Given the description of an element on the screen output the (x, y) to click on. 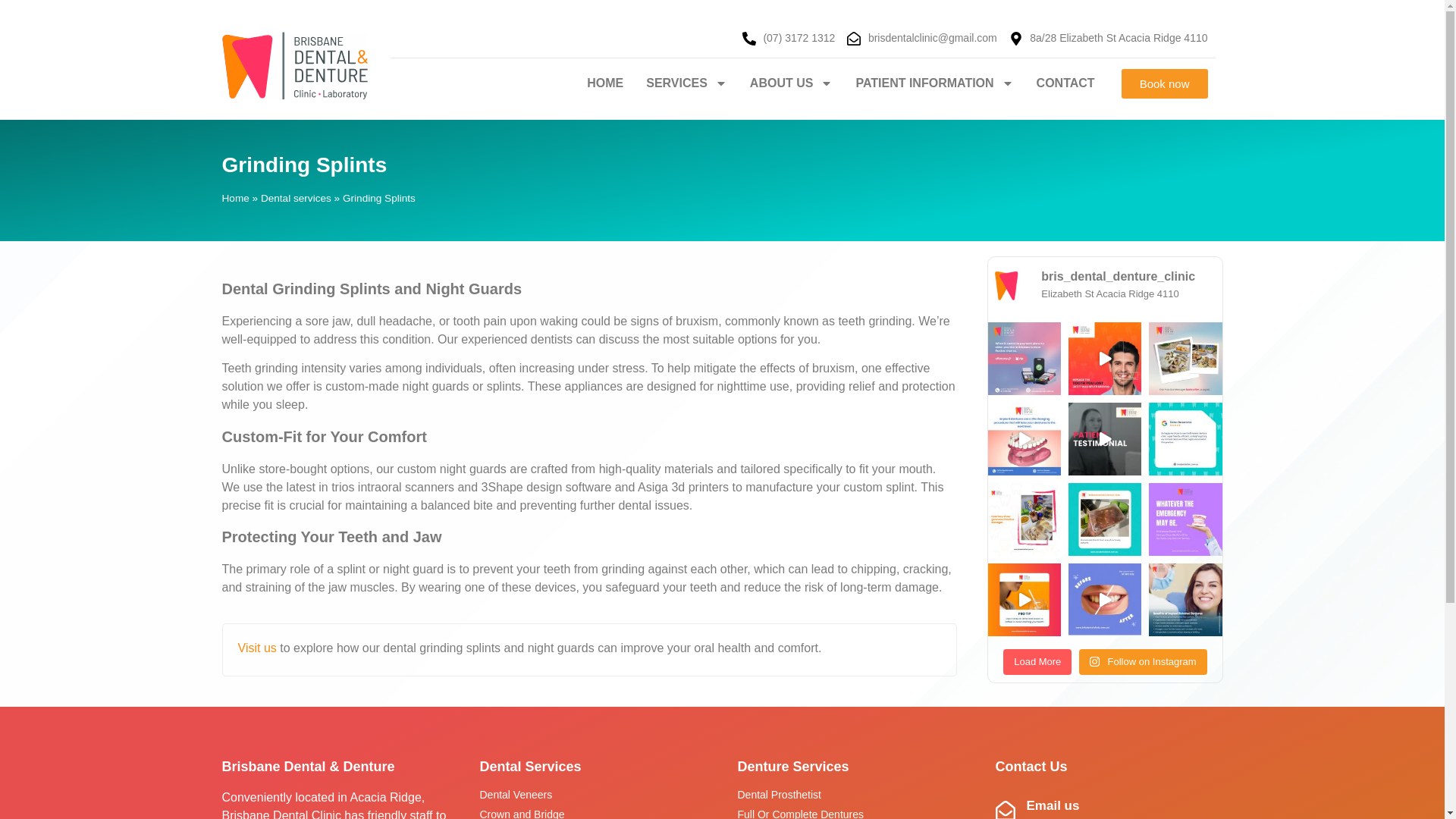
HOME (604, 83)
ABOUT US (791, 83)
SERVICES (686, 83)
